Given the description of an element on the screen output the (x, y) to click on. 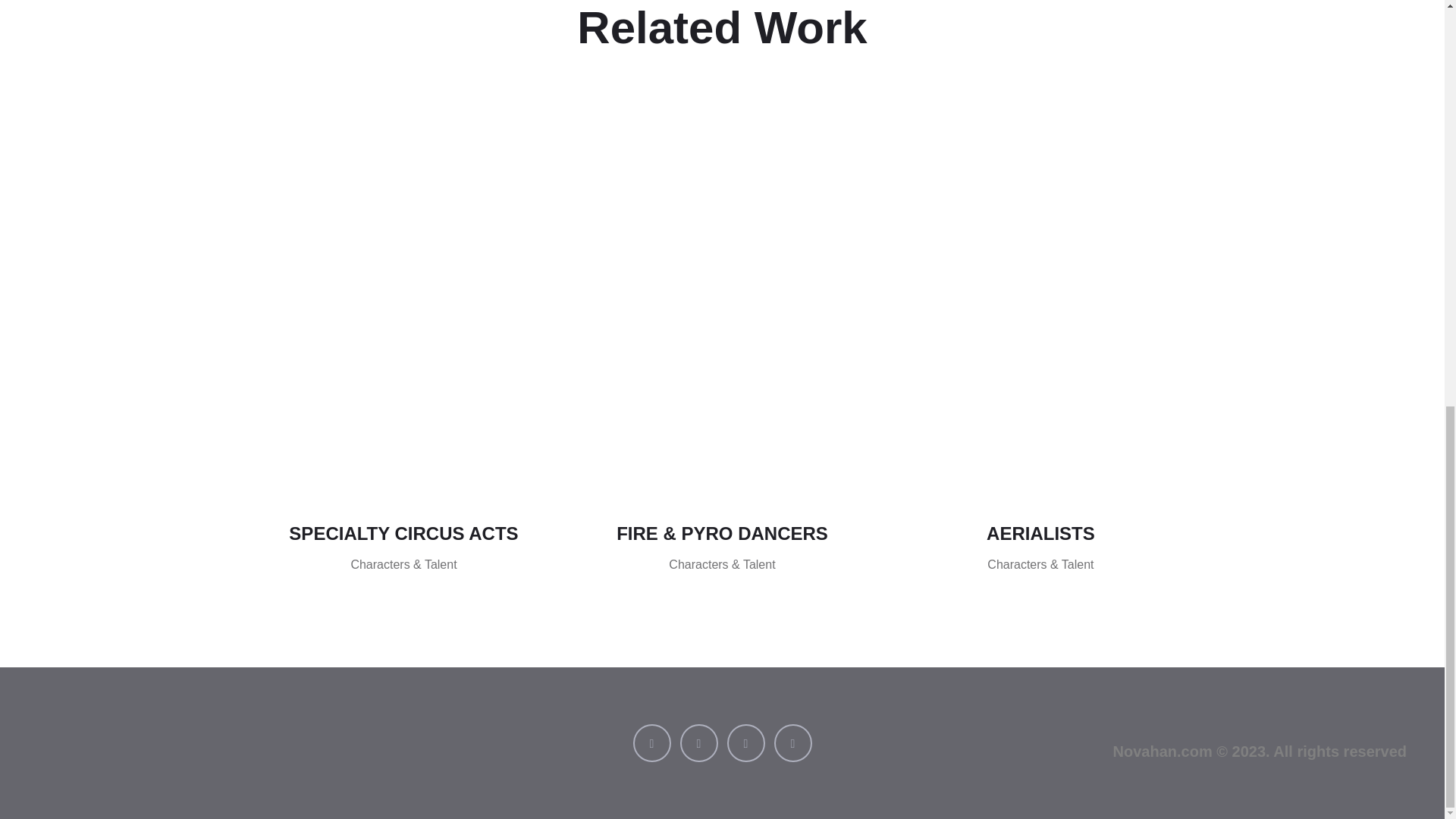
SPECIALTY CIRCUS ACTS (403, 533)
Nova Han Productions (258, 743)
AERIALISTS (1040, 533)
